Given the description of an element on the screen output the (x, y) to click on. 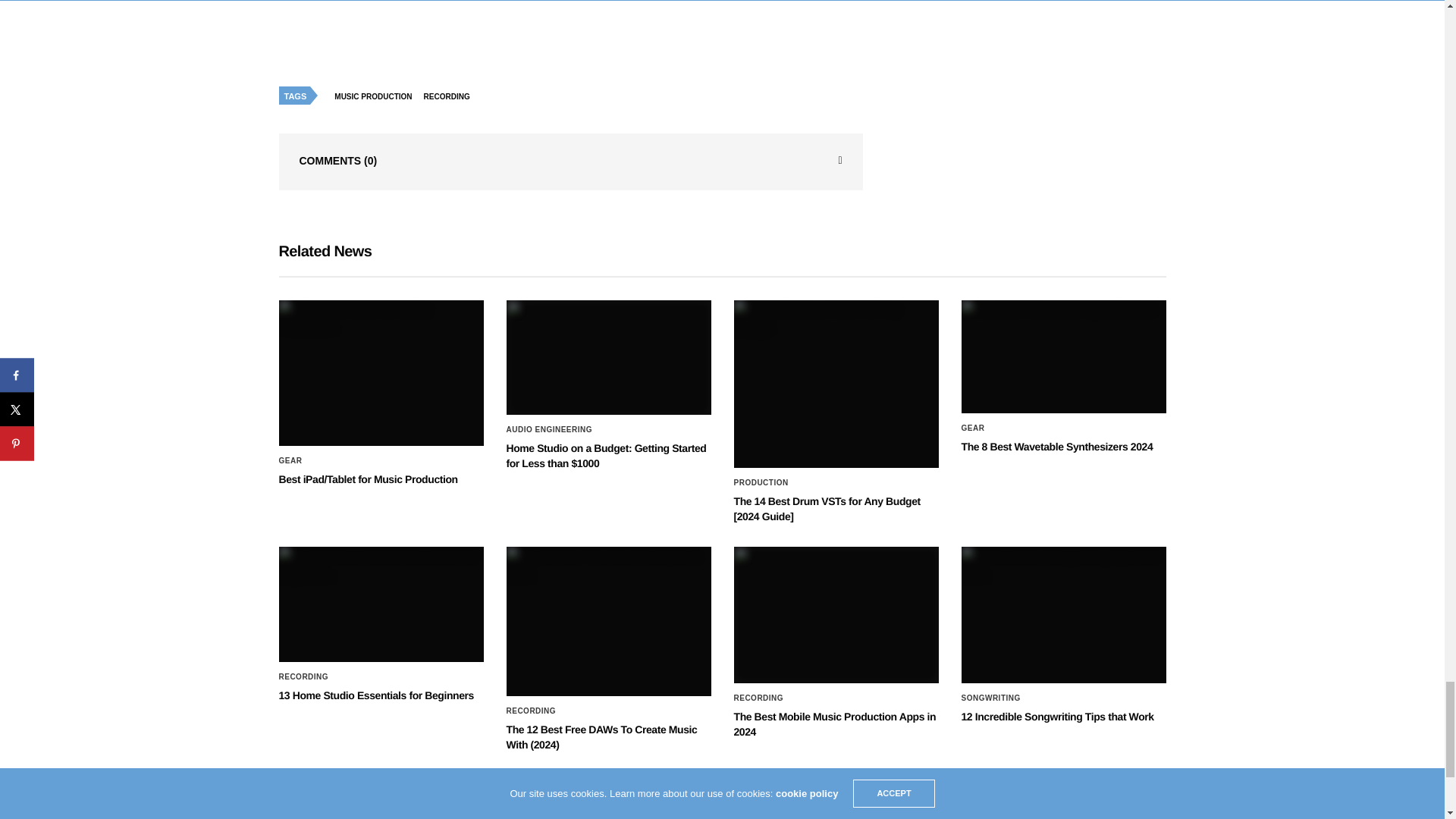
MUSIC PRODUCTION (376, 96)
